Given the description of an element on the screen output the (x, y) to click on. 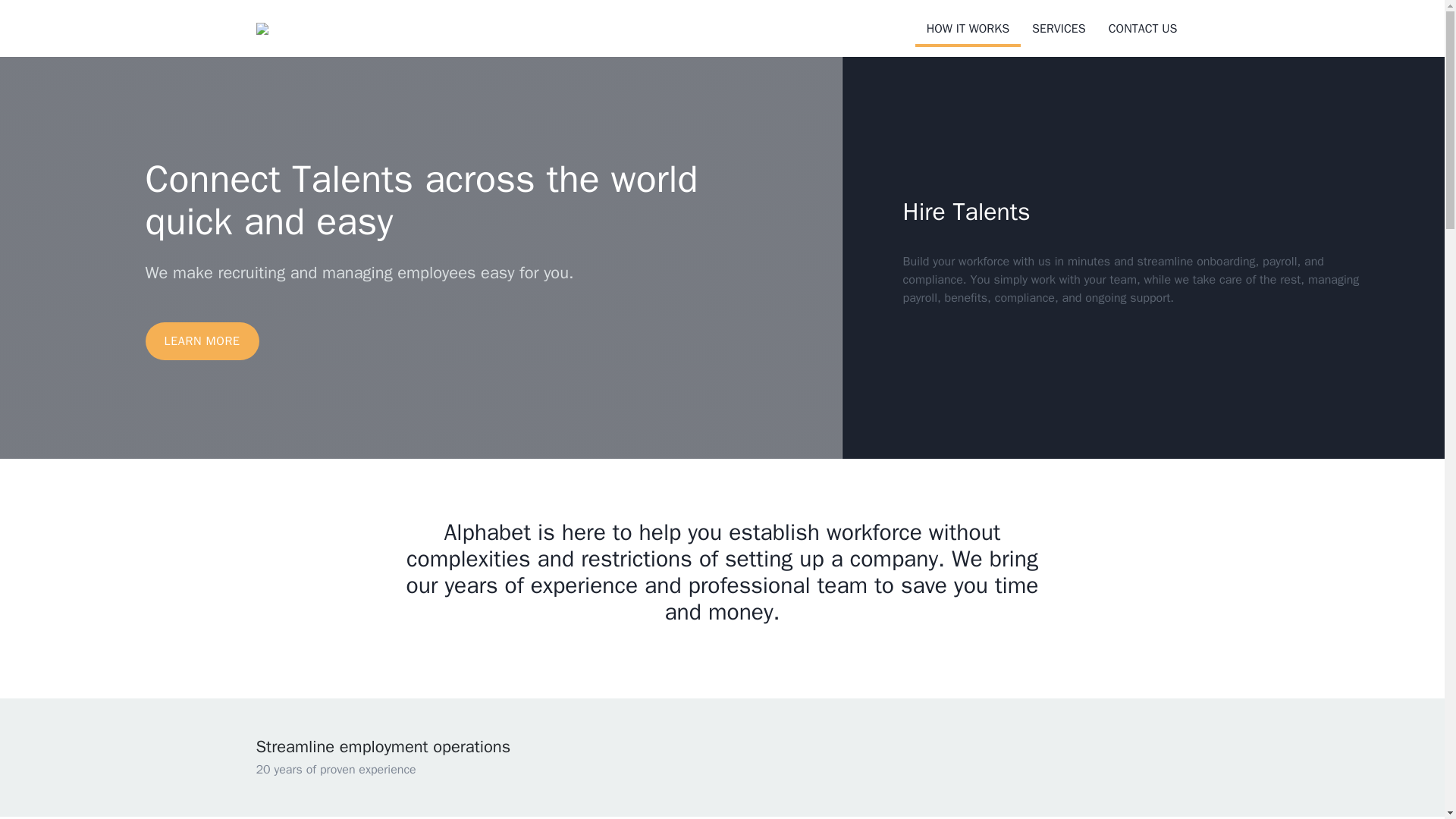
CONTACT US (1143, 28)
LEARN MORE (202, 341)
SERVICES (1058, 28)
HOW IT WORKS (967, 29)
